Given the description of an element on the screen output the (x, y) to click on. 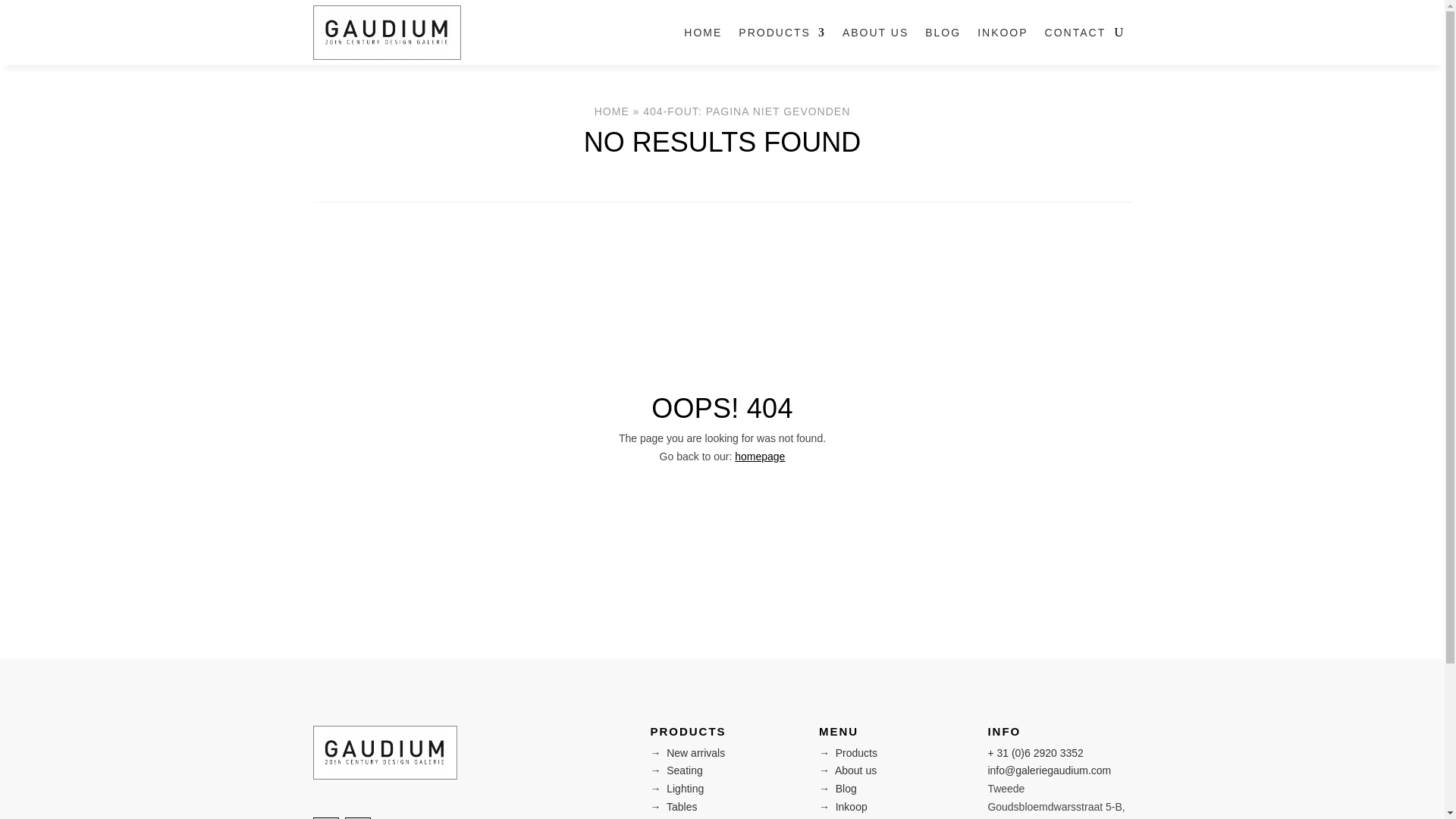
Follow on Instagram (356, 818)
PRODUCTS (781, 32)
Follow on Facebook (325, 818)
CONTACT (1075, 32)
LOGO GAUDIUM (385, 752)
ABOUT US (875, 32)
